Given the description of an element on the screen output the (x, y) to click on. 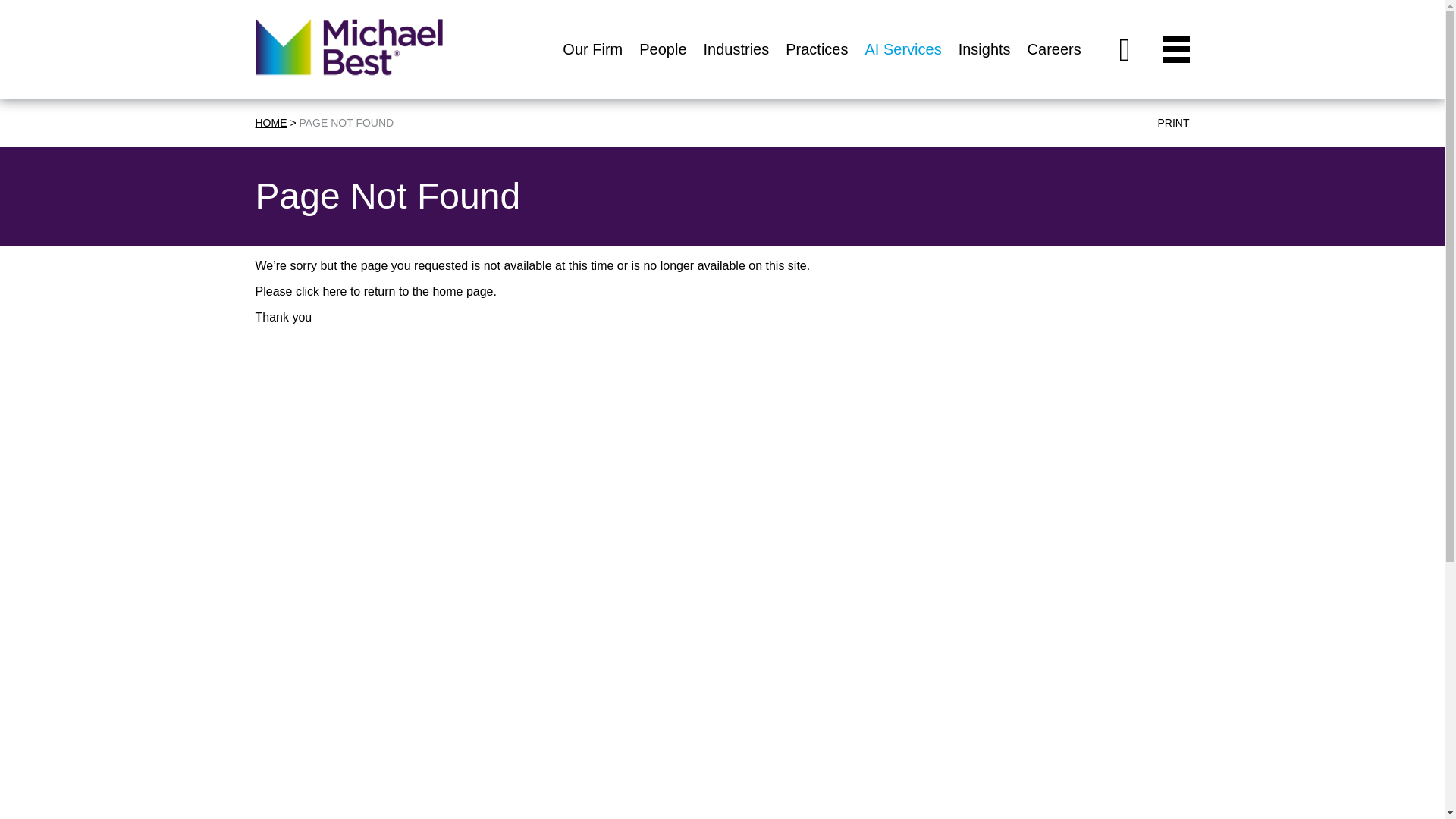
PRINT (1169, 122)
Our Firm (592, 66)
Industries (736, 66)
